Given the description of an element on the screen output the (x, y) to click on. 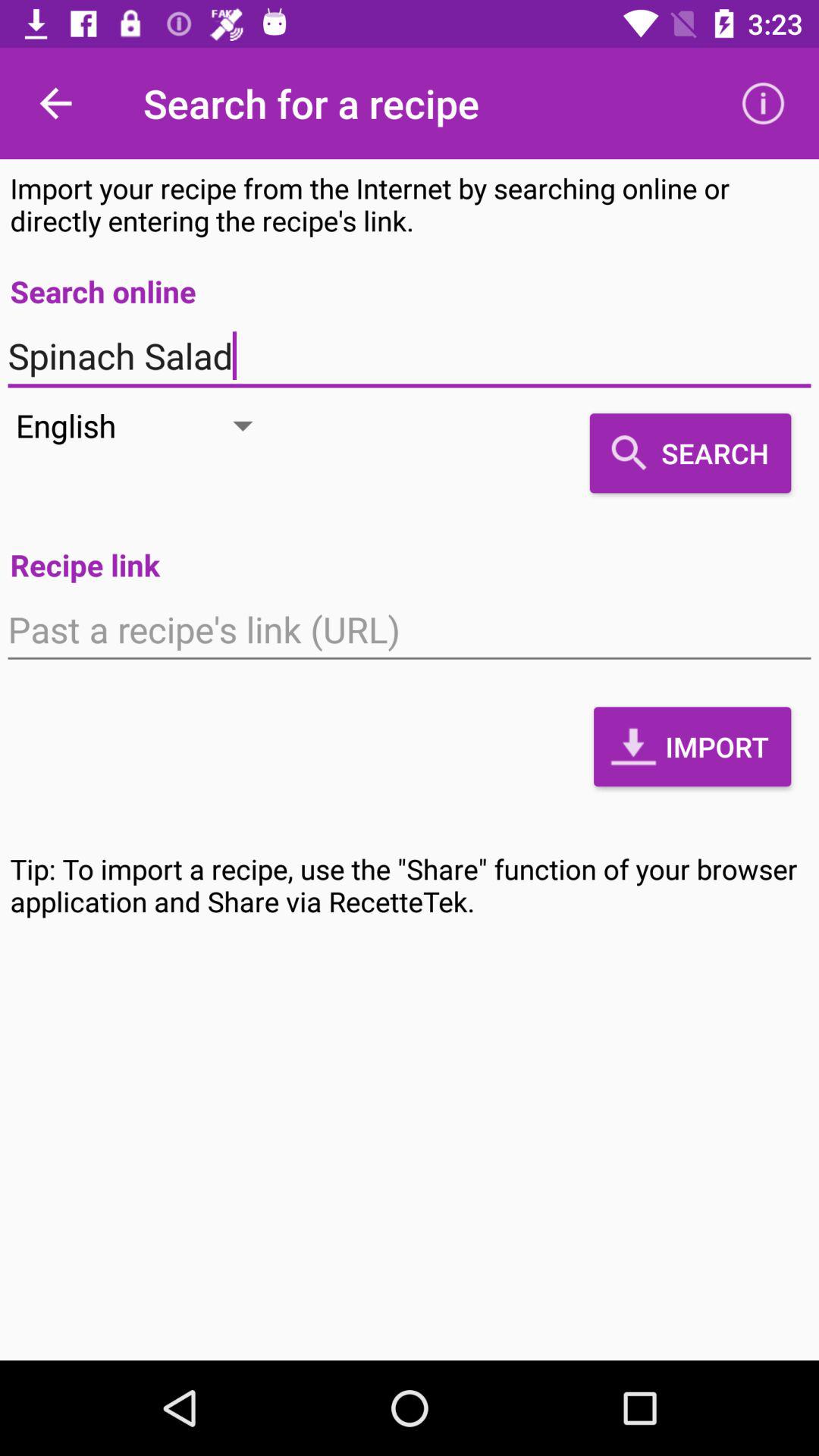
launch icon above the search item (409, 356)
